Given the description of an element on the screen output the (x, y) to click on. 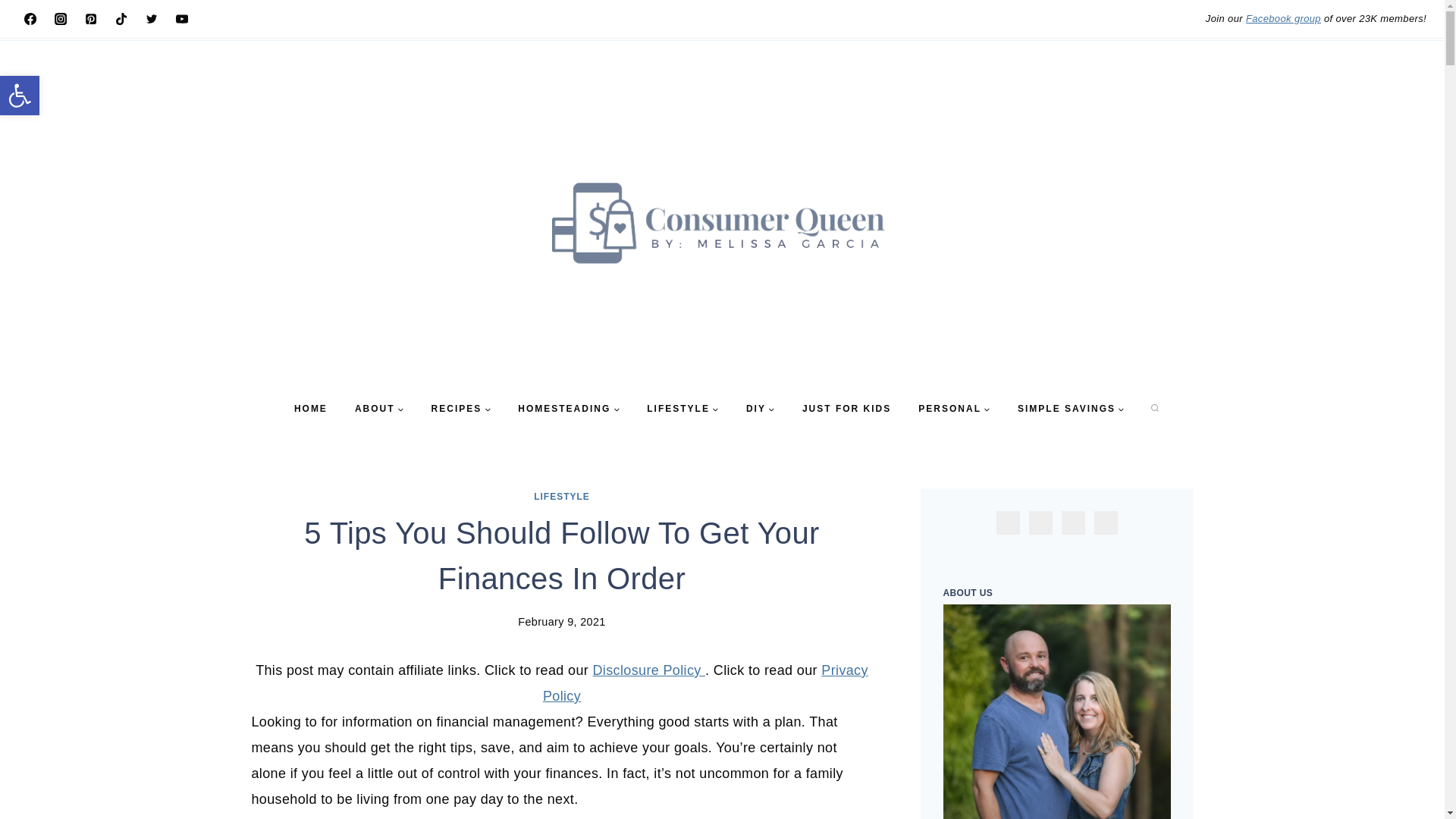
Facebook group (1283, 18)
HOMESTEADING (568, 408)
HOME (310, 408)
ABOUT (378, 408)
RECIPES (461, 408)
Accessibility Tools (19, 95)
